Given the description of an element on the screen output the (x, y) to click on. 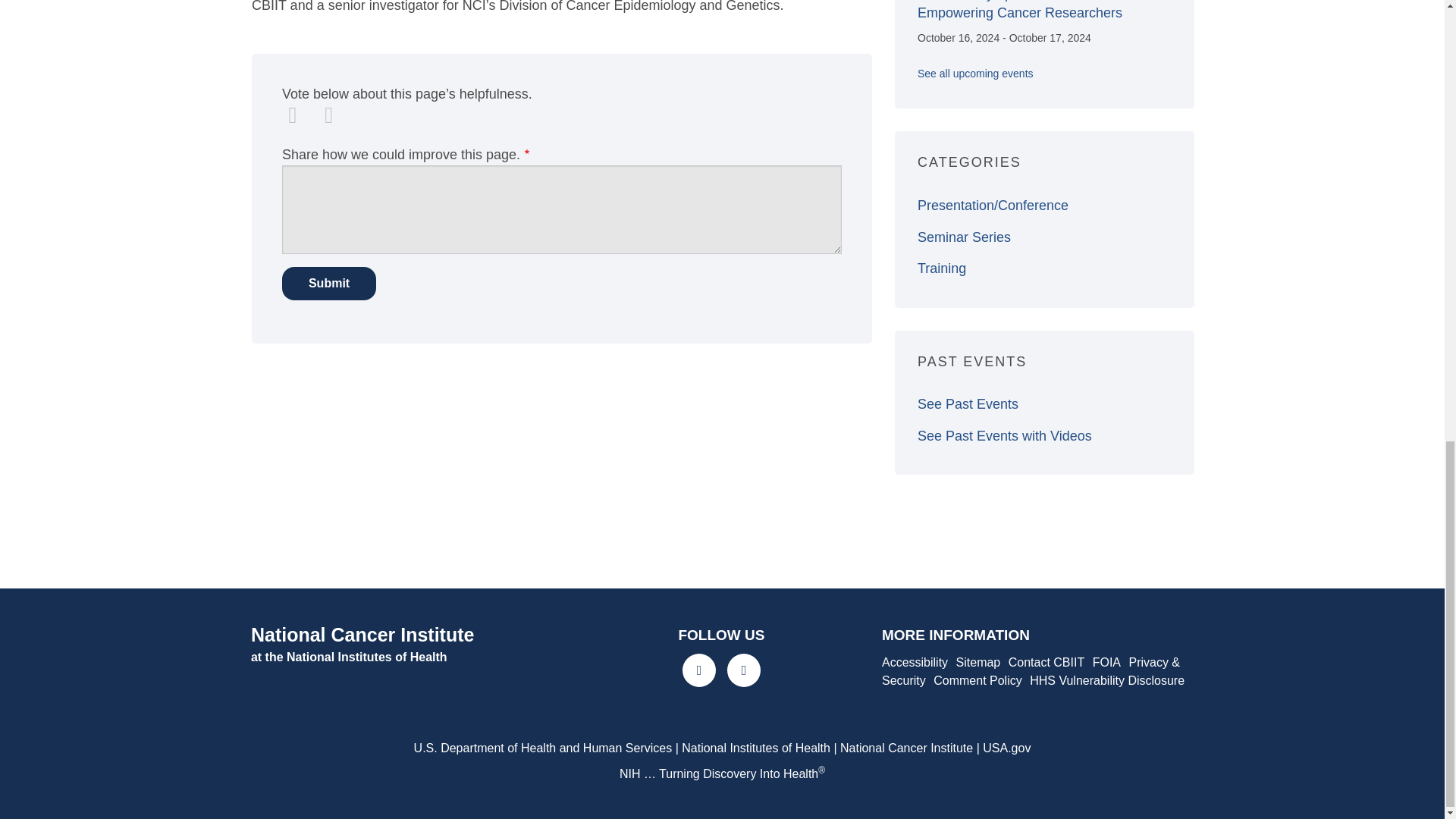
Submit (328, 283)
